Given the description of an element on the screen output the (x, y) to click on. 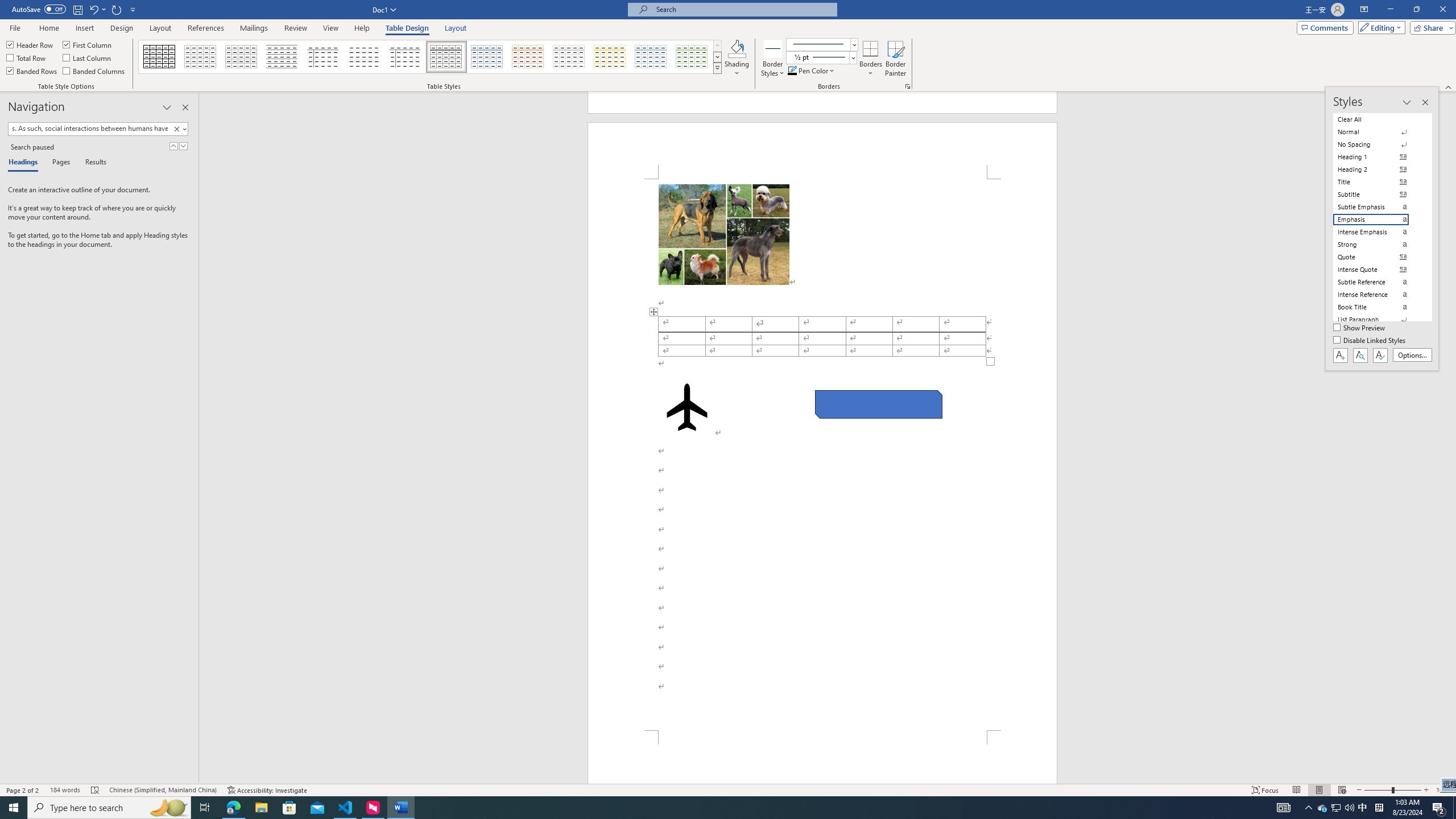
Spelling and Grammar Check Errors (94, 790)
Search document (89, 128)
Page Number Page 2 of 2 (22, 790)
Intense Reference (1377, 294)
Header Row (30, 44)
Repeat Style (117, 9)
No Spacing (1377, 144)
Class: NetUIButton (1380, 355)
Grid Table 1 Light - Accent 1 (487, 56)
Disable Linked Styles (1370, 340)
Total Row (26, 56)
